Given the description of an element on the screen output the (x, y) to click on. 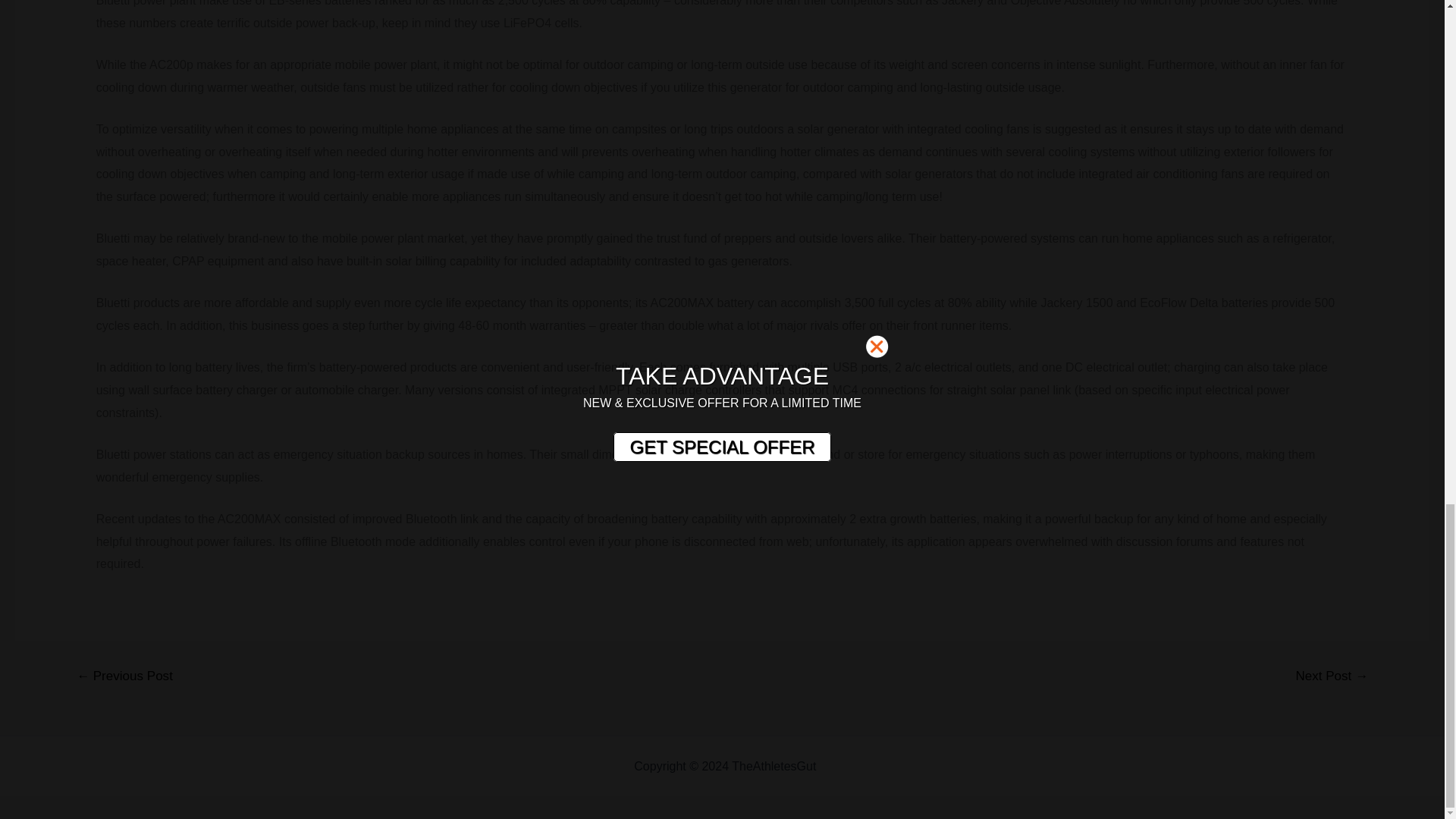
Sitemap (841, 766)
